Given the description of an element on the screen output the (x, y) to click on. 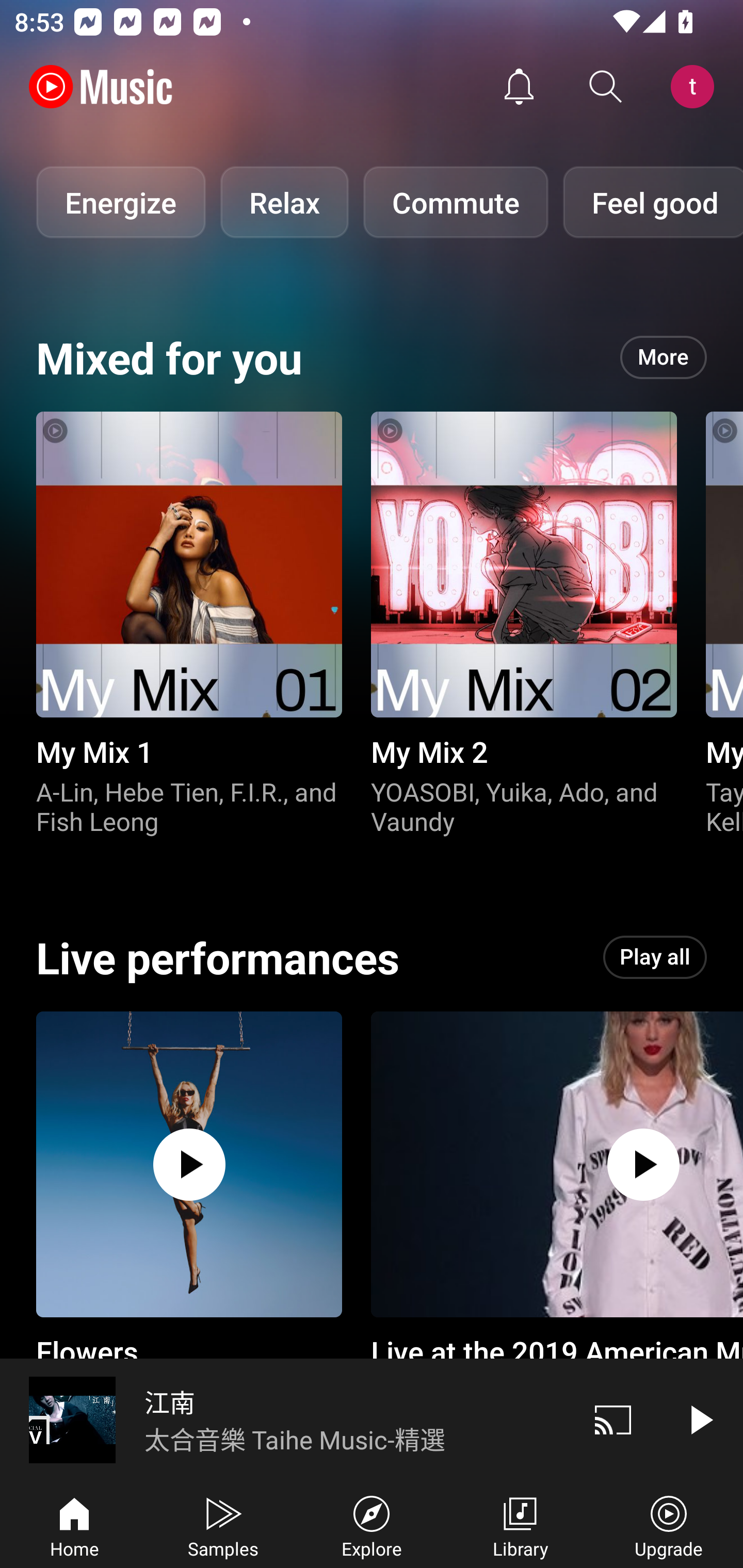
Activity feed (518, 86)
Search (605, 86)
Account (696, 86)
江南 太合音樂 Taihe Music-精選 (284, 1419)
Cast. Disconnected (612, 1419)
Play video (699, 1419)
Home (74, 1524)
Samples (222, 1524)
Explore (371, 1524)
Library (519, 1524)
Upgrade (668, 1524)
